Given the description of an element on the screen output the (x, y) to click on. 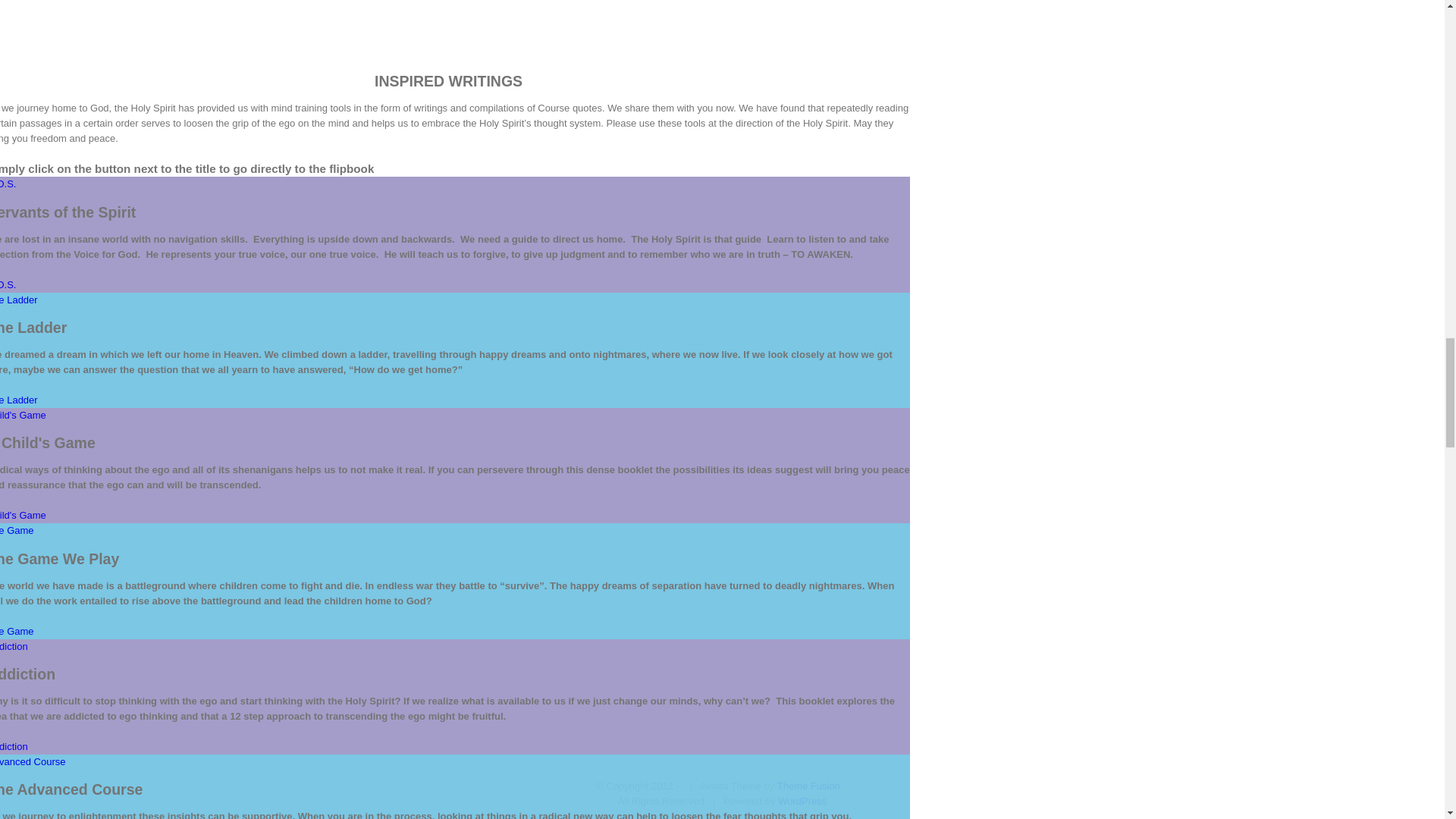
S.O.S. (8, 284)
Addiction (13, 746)
S.O.S. (8, 183)
The Game (16, 631)
Advanced Course (32, 761)
The Ladder (18, 299)
Child's Game (23, 414)
Child's Game (23, 514)
Addiction (13, 645)
The Game (16, 530)
The Ladder (18, 399)
